Given the description of an element on the screen output the (x, y) to click on. 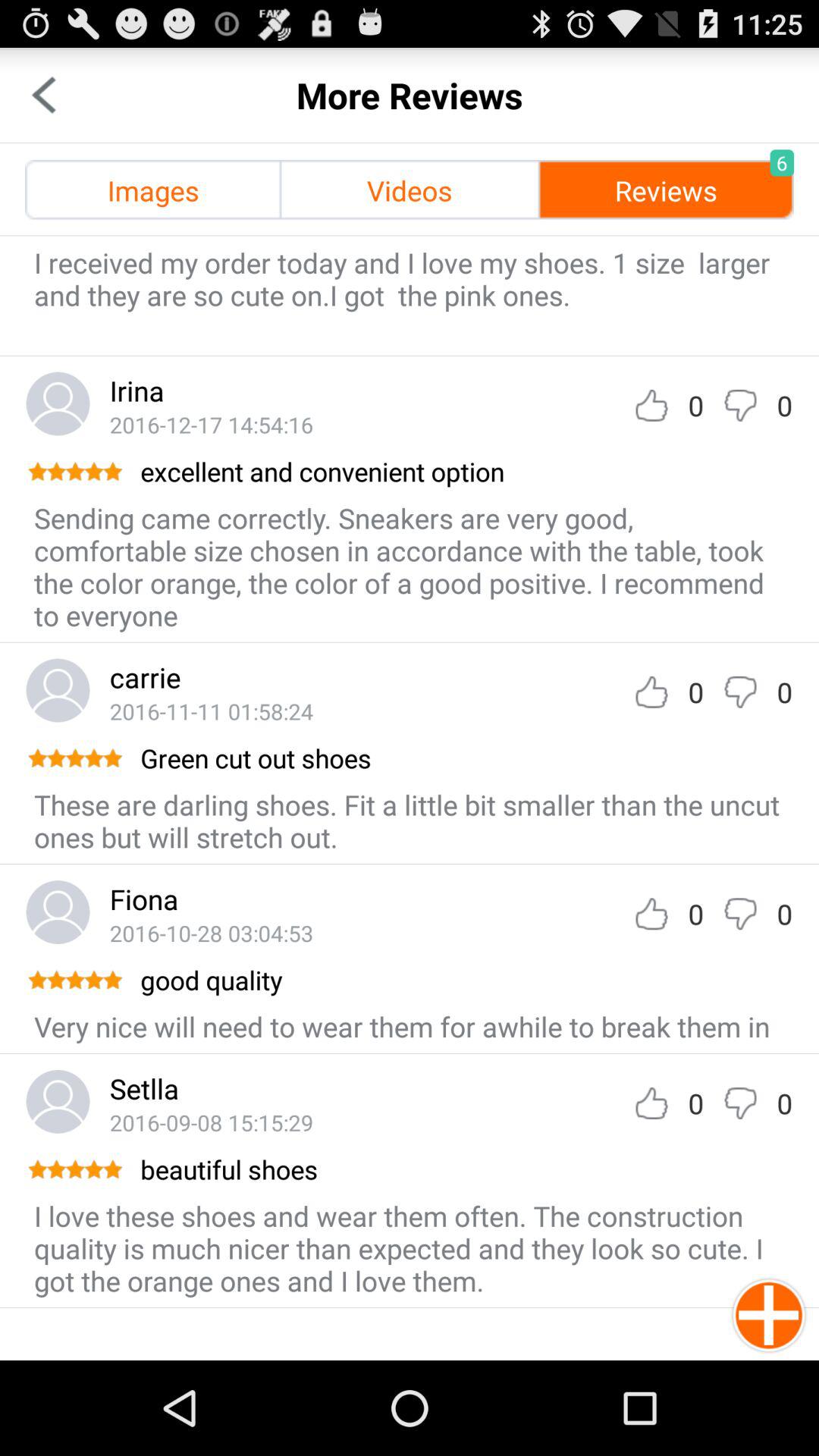
turn on the app next to the more reviews item (43, 95)
